Given the description of an element on the screen output the (x, y) to click on. 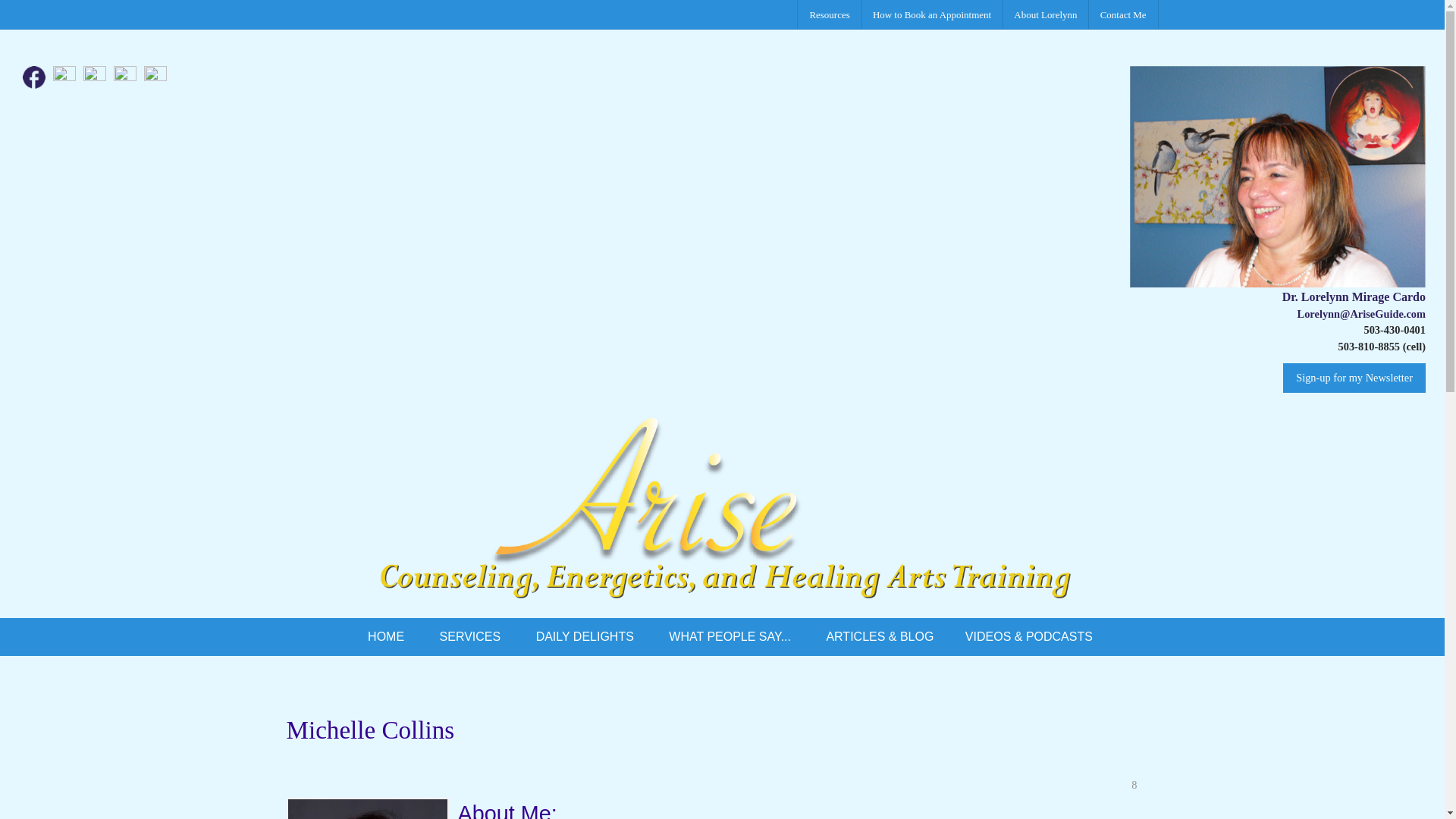
About Lorelynn (1045, 14)
Arise  (722, 518)
Sign-up for my Newsletter (1353, 377)
How to Book an Appointment (932, 14)
Resources (828, 14)
WHAT PEOPLE SAY... (729, 637)
DAILY DELIGHTS (585, 637)
HOME (385, 637)
SERVICES (470, 637)
Contact Me (1123, 14)
